Given the description of an element on the screen output the (x, y) to click on. 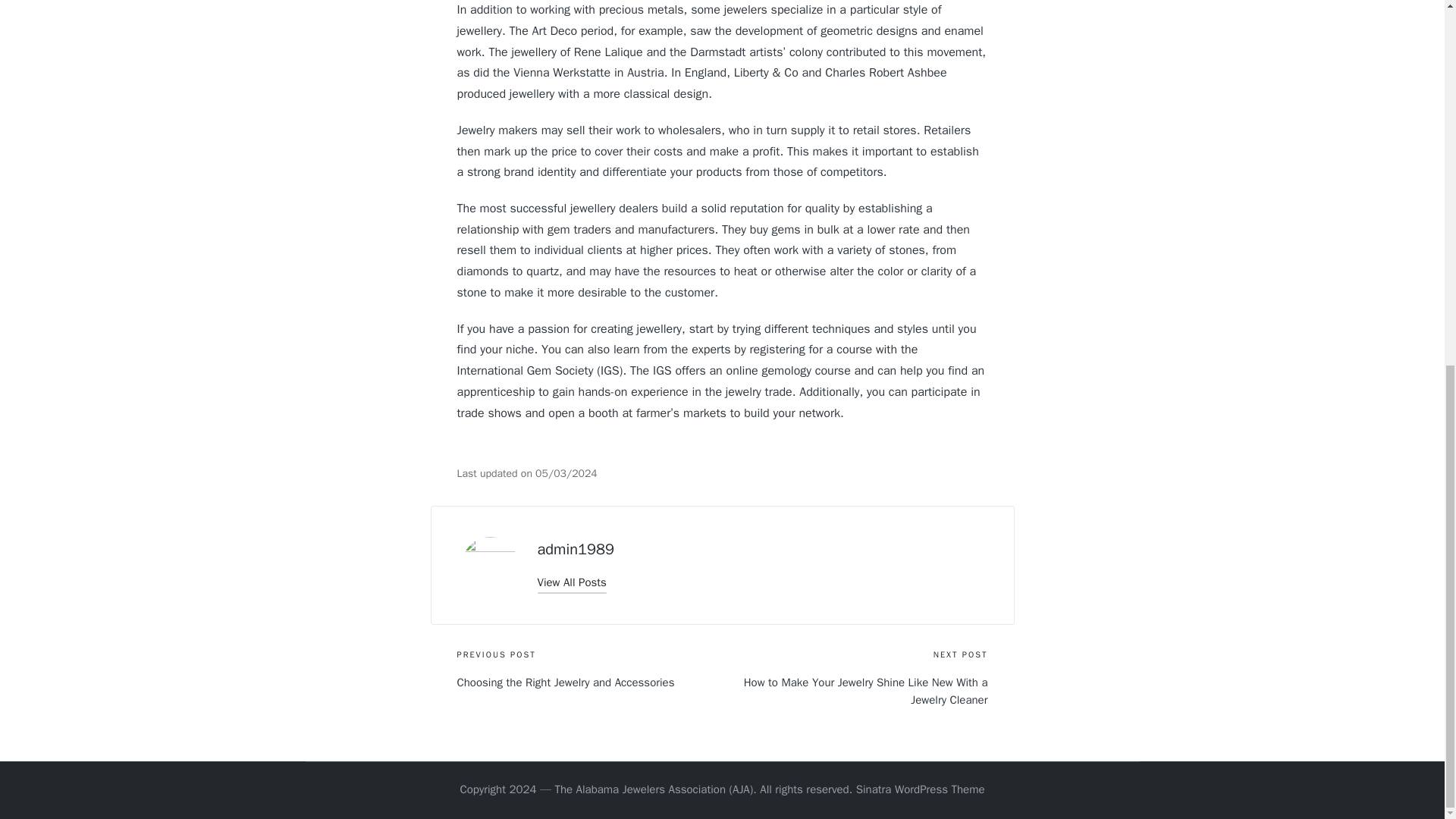
admin1989 (574, 548)
Sinatra WordPress Theme (920, 790)
Choosing the Right Jewelry and Accessories (589, 682)
View All Posts (571, 582)
